Given the description of an element on the screen output the (x, y) to click on. 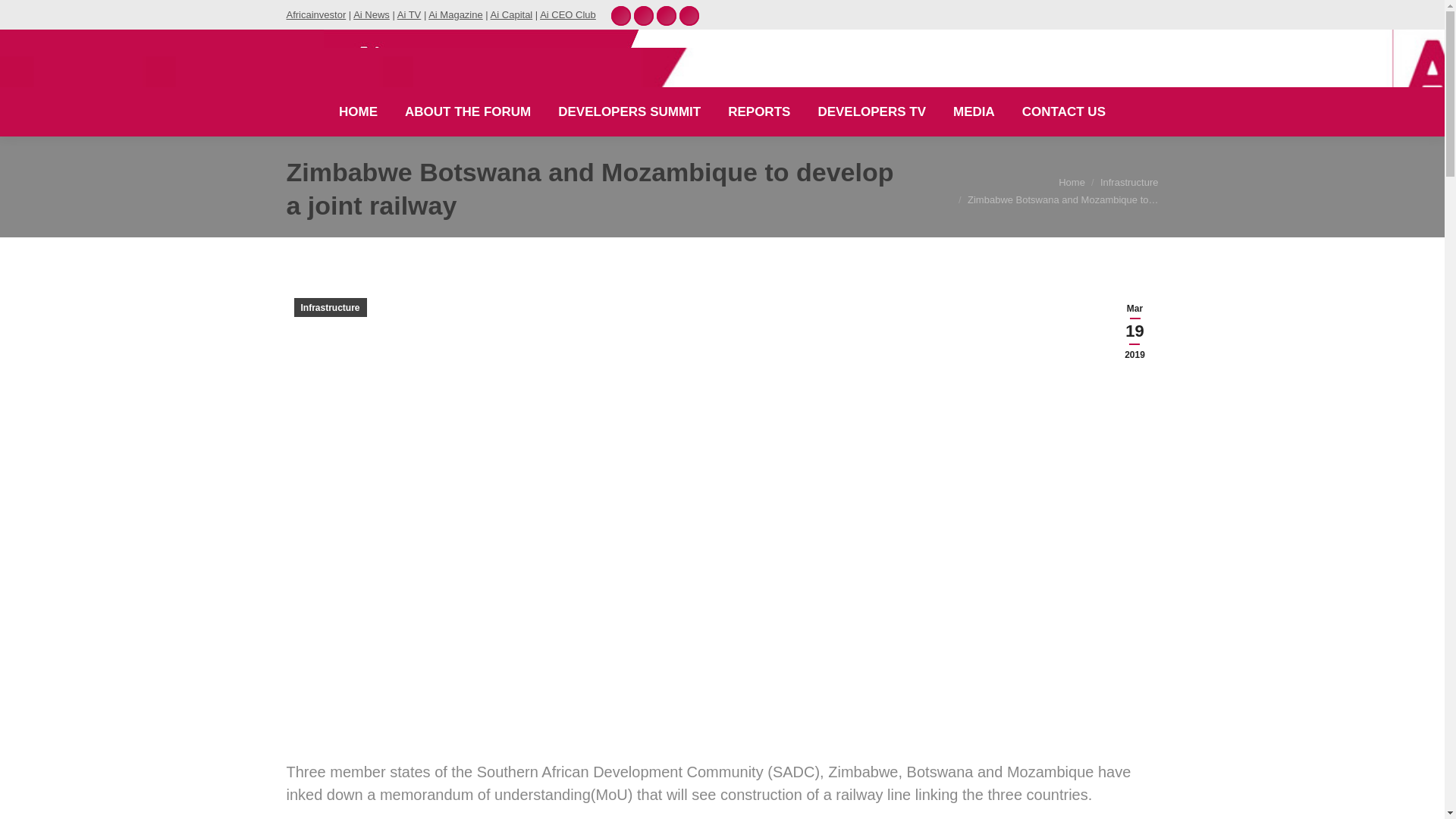
REPORTS (759, 111)
Ai Magazine (455, 14)
MEDIA (973, 111)
Ai CEO Club (567, 14)
Pinterest page opens in new window (620, 15)
HOME (358, 111)
DEVELOPERS SUMMIT (628, 111)
ABOUT THE FORUM (467, 111)
Home (1071, 181)
Twitter page opens in new window (666, 15)
Ai News (371, 14)
Facebook page opens in new window (688, 15)
Facebook page opens in new window (688, 15)
Pinterest page opens in new window (620, 15)
Ai TV (409, 14)
